Given the description of an element on the screen output the (x, y) to click on. 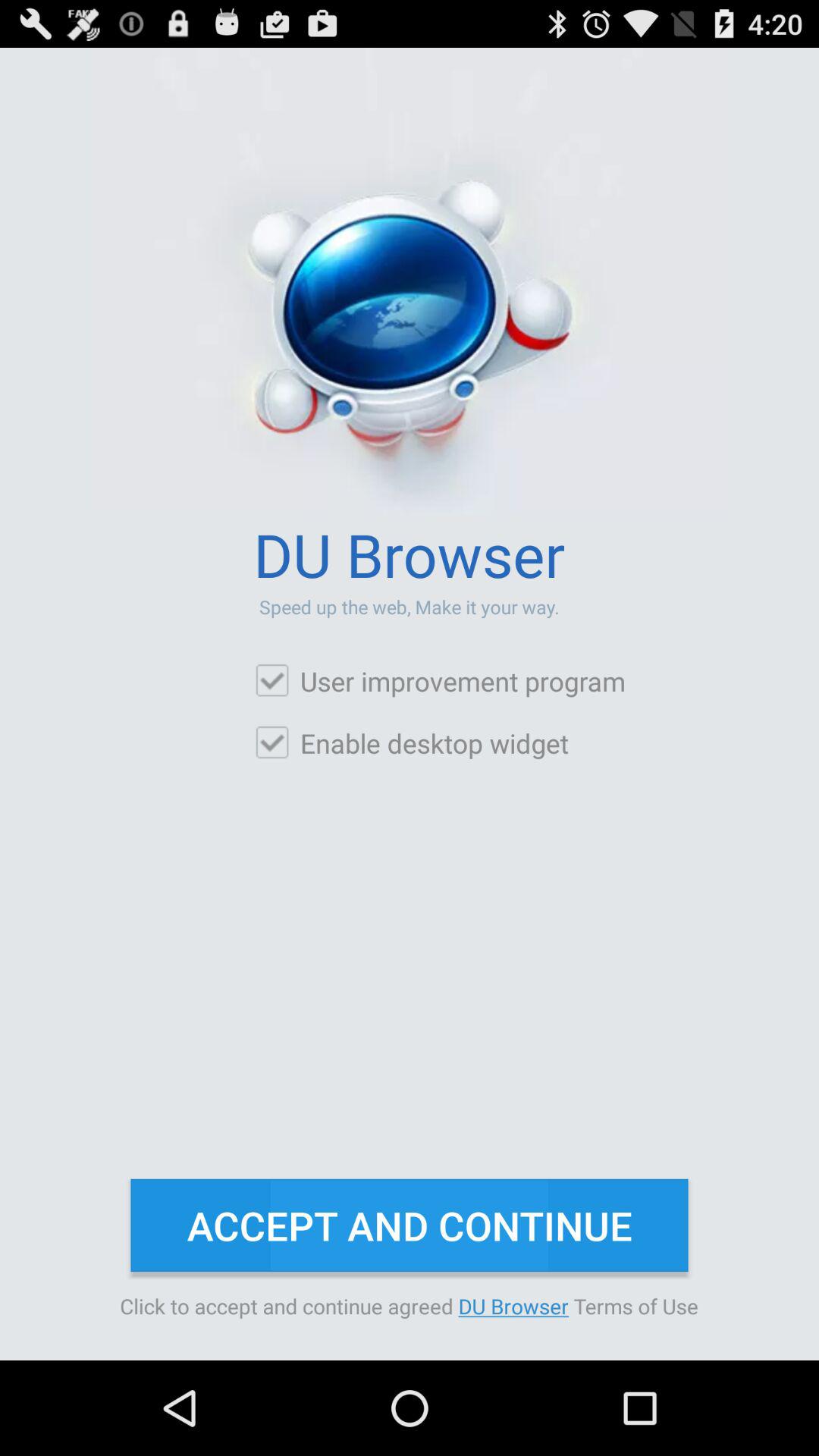
launch icon above enable desktop widget item (439, 680)
